Given the description of an element on the screen output the (x, y) to click on. 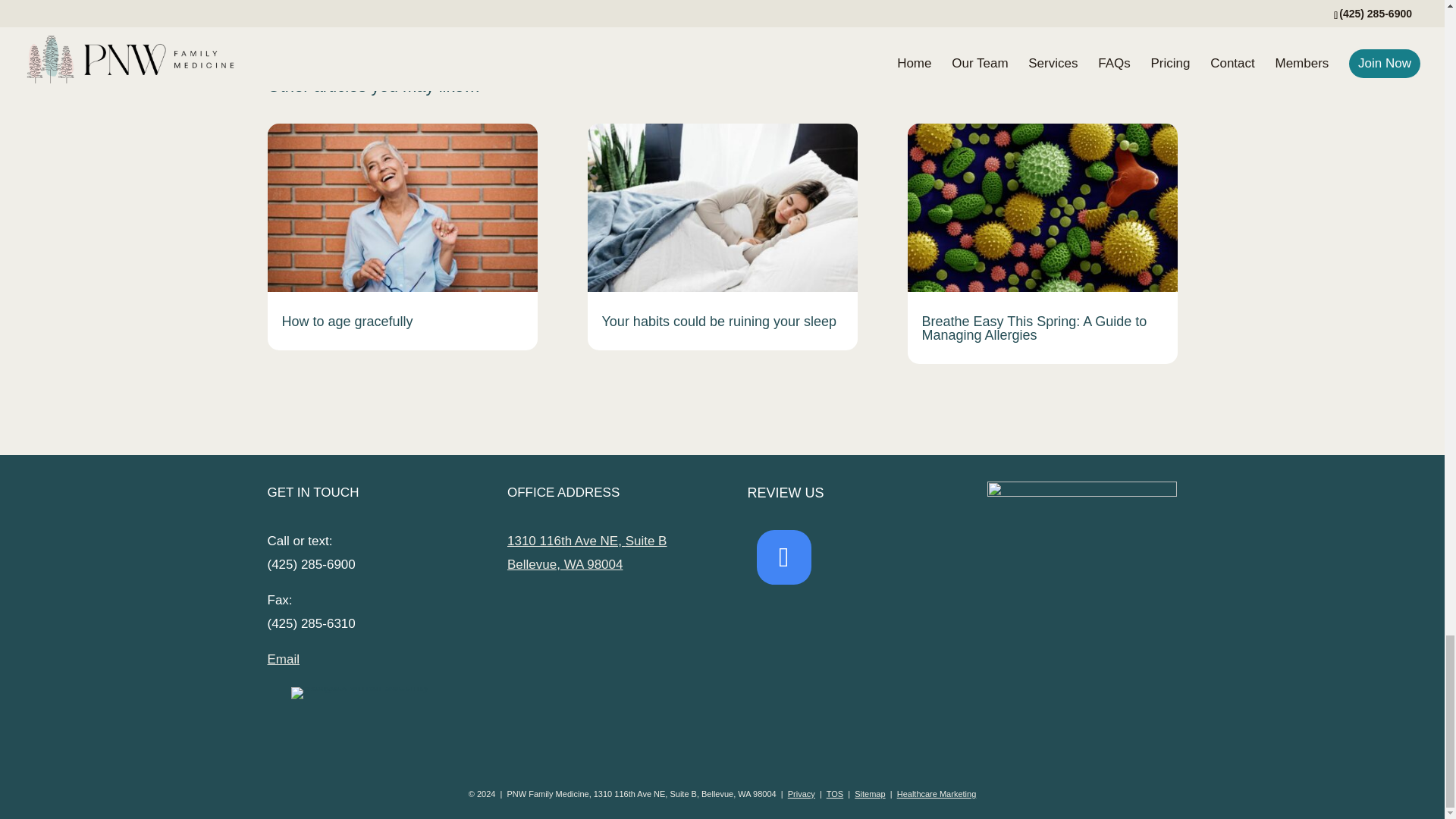
TOS (835, 793)
How to age gracefully (347, 321)
Your habits could be ruining your sleep (719, 321)
Sitemap (869, 793)
Email (282, 658)
Follow on Google (783, 556)
Privacy (801, 793)
Bellevue, WA 98004 (564, 564)
Healthcare Marketing (936, 793)
Breathe Easy This Spring: A Guide to Managing Allergies (1034, 328)
